Given the description of an element on the screen output the (x, y) to click on. 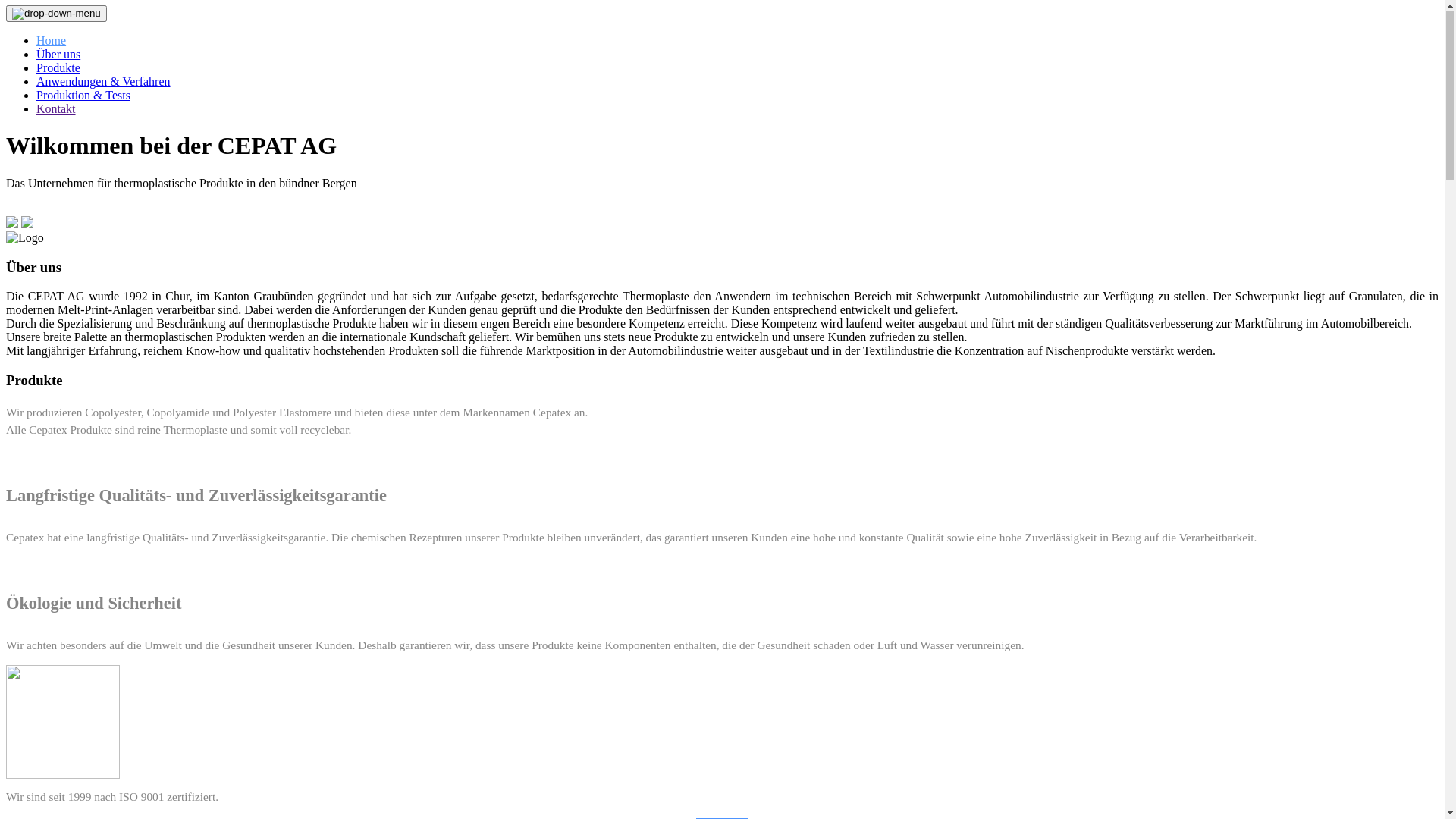
Kontakt Element type: text (55, 109)
Produktion & Tests Element type: text (83, 95)
Anwendungen & Verfahren Element type: text (103, 81)
drop-down-menu Element type: hover (56, 14)
Logo Element type: hover (24, 238)
Home Element type: text (50, 40)
Produkte Element type: text (58, 68)
